Given the description of an element on the screen output the (x, y) to click on. 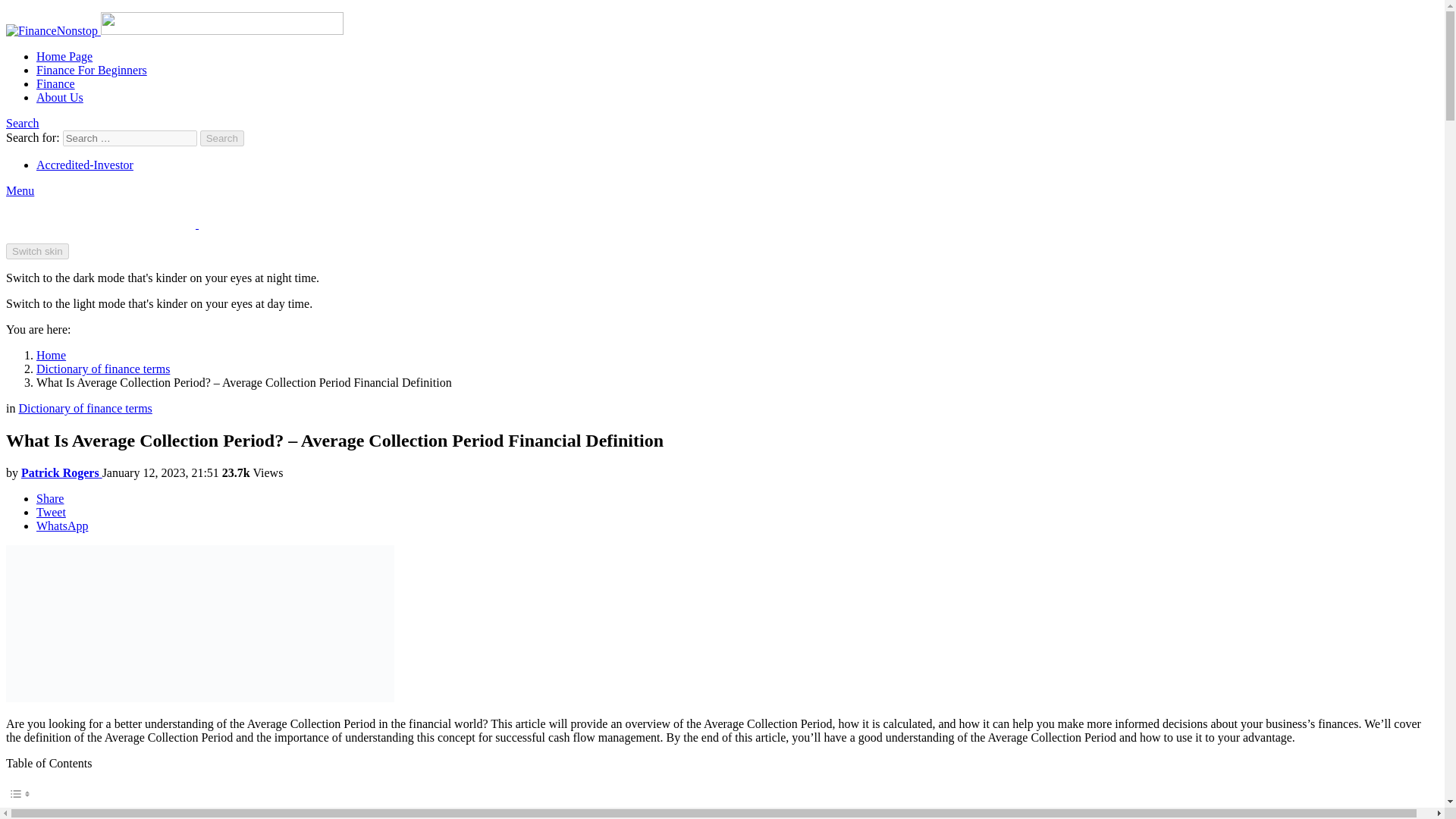
Accredited-Investor (84, 164)
Share (50, 498)
Switch skin (36, 251)
Search (222, 138)
Menu (19, 190)
Search for: (129, 138)
Tweet (50, 512)
Dictionary of finance terms (103, 368)
Home (50, 354)
Share on WhatsApp (61, 525)
Share on Share (50, 498)
WhatsApp (61, 525)
Finance For Beginners (91, 69)
About Us (59, 97)
on (13, 812)
